Given the description of an element on the screen output the (x, y) to click on. 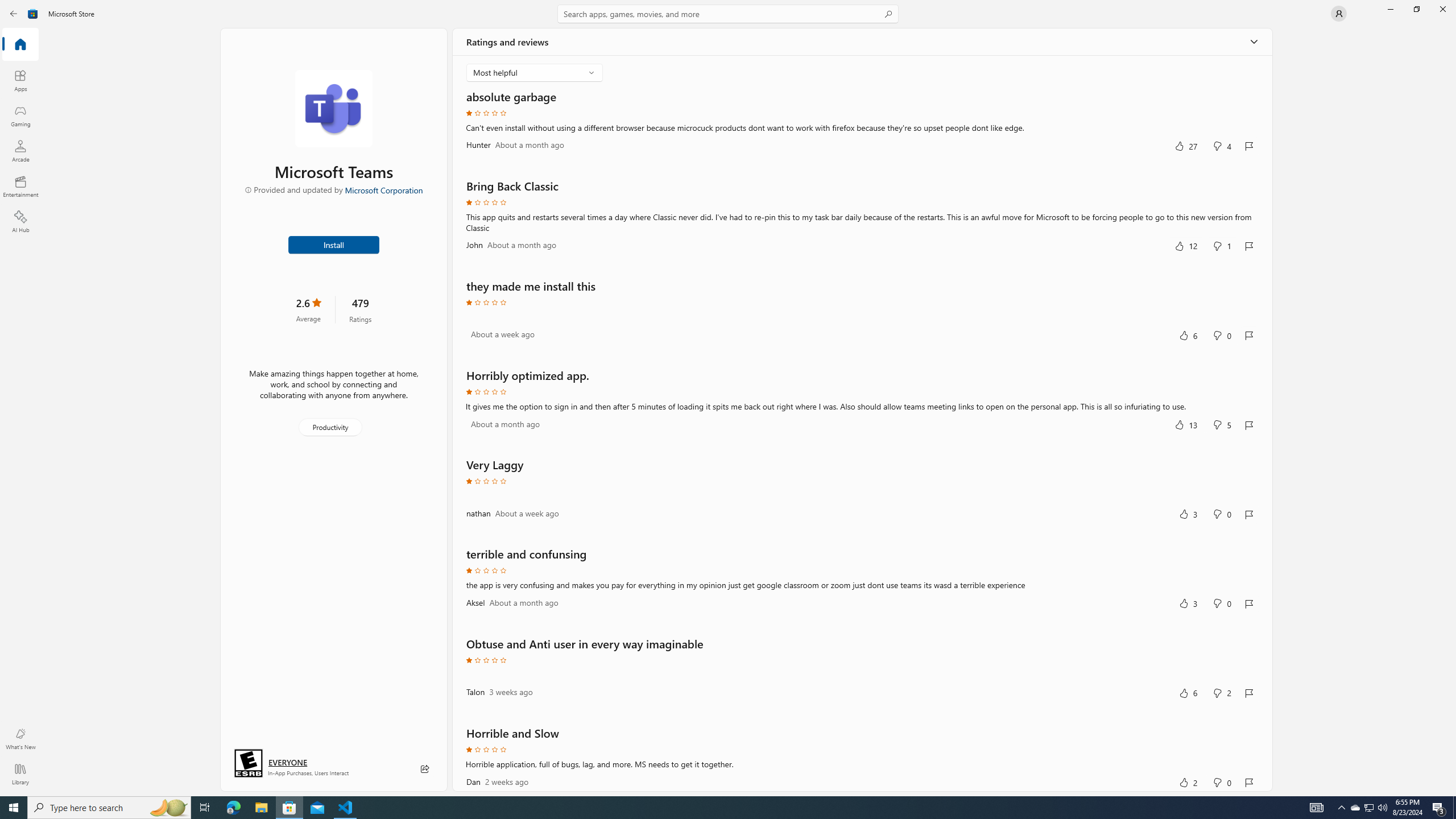
Yes, this was helpful. 6 votes. (1188, 692)
Yes, this was helpful. 27 votes. (1185, 145)
Review by Dan. Rated 1 out of five stars. Horrible and Slow. (861, 757)
Home (20, 45)
Review by nathan. Rated 1 out of five stars. Very Laggy. (861, 501)
What's New (20, 738)
No, this was not helpful. 2 votes. (1222, 692)
AutomationID: NavigationControl (728, 398)
No, this was not helpful. 1 votes. (1222, 245)
No, this was not helpful. 4 votes. (1222, 145)
Entertainment (20, 185)
Productivity (329, 426)
Yes, this was helpful. 13 votes. (1185, 424)
